Given the description of an element on the screen output the (x, y) to click on. 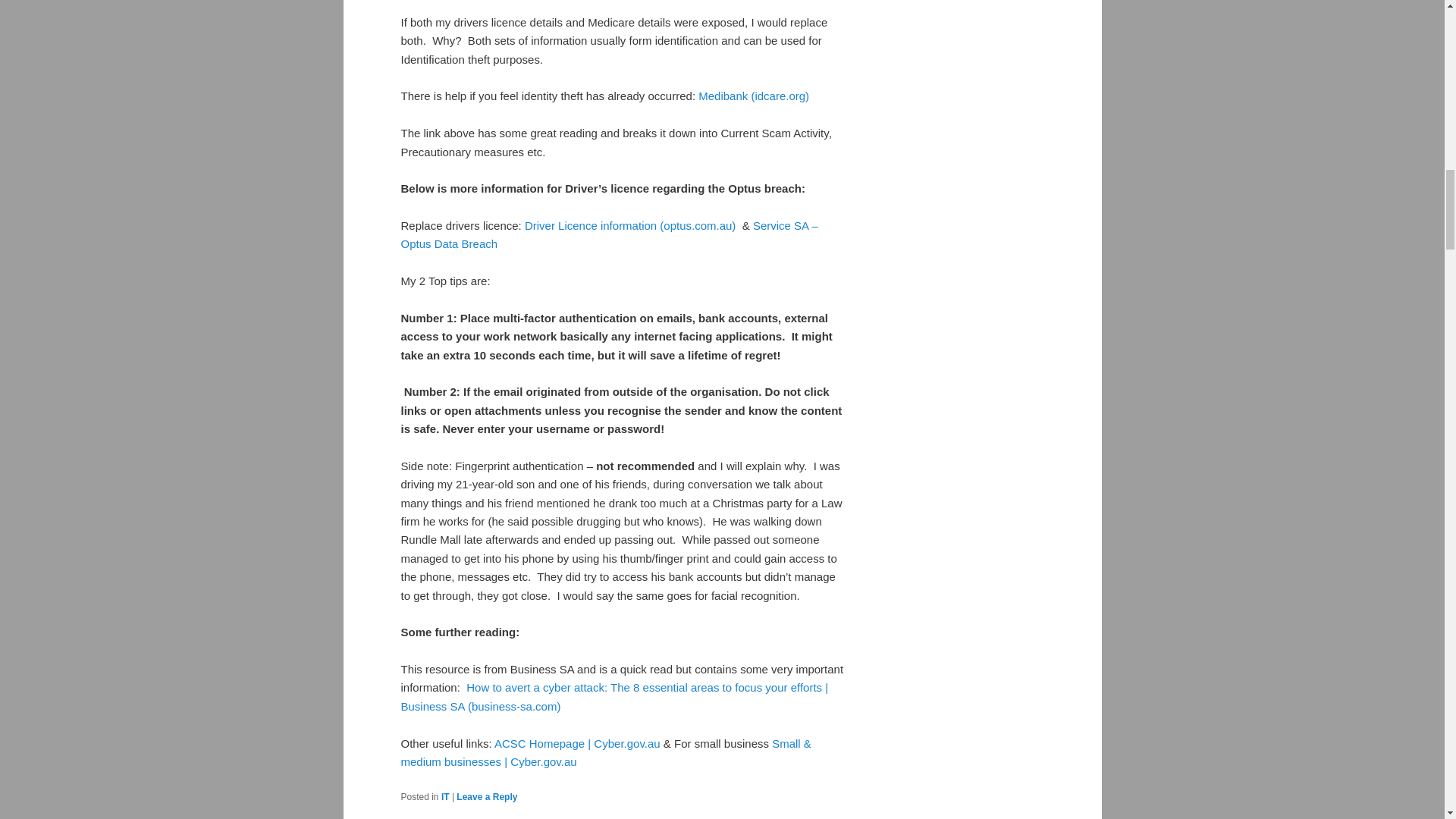
IT (445, 796)
Leave a Reply (486, 796)
